Given the description of an element on the screen output the (x, y) to click on. 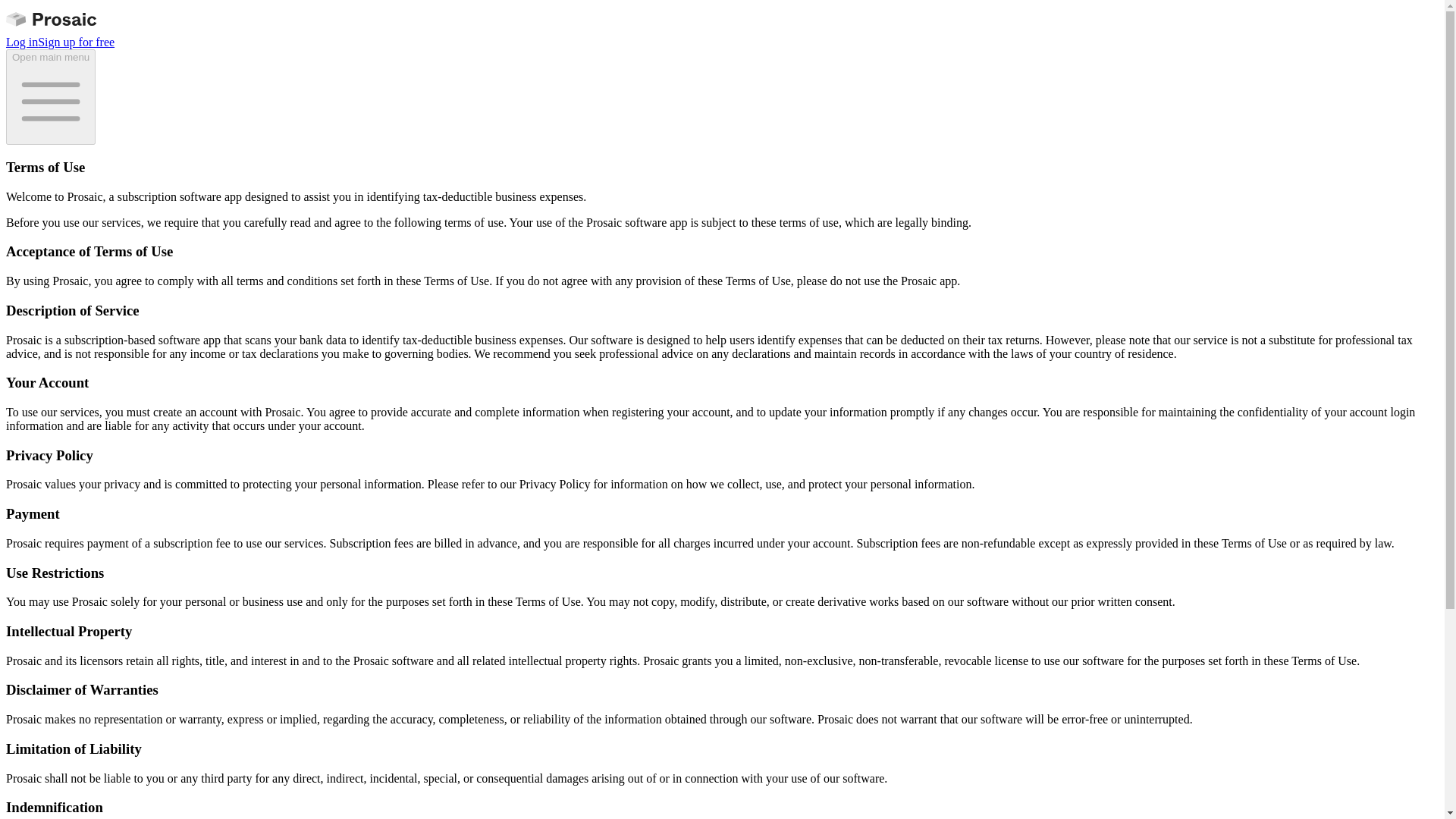
Open main menu (50, 96)
Log in (21, 42)
Sign up for free (76, 42)
